Given the description of an element on the screen output the (x, y) to click on. 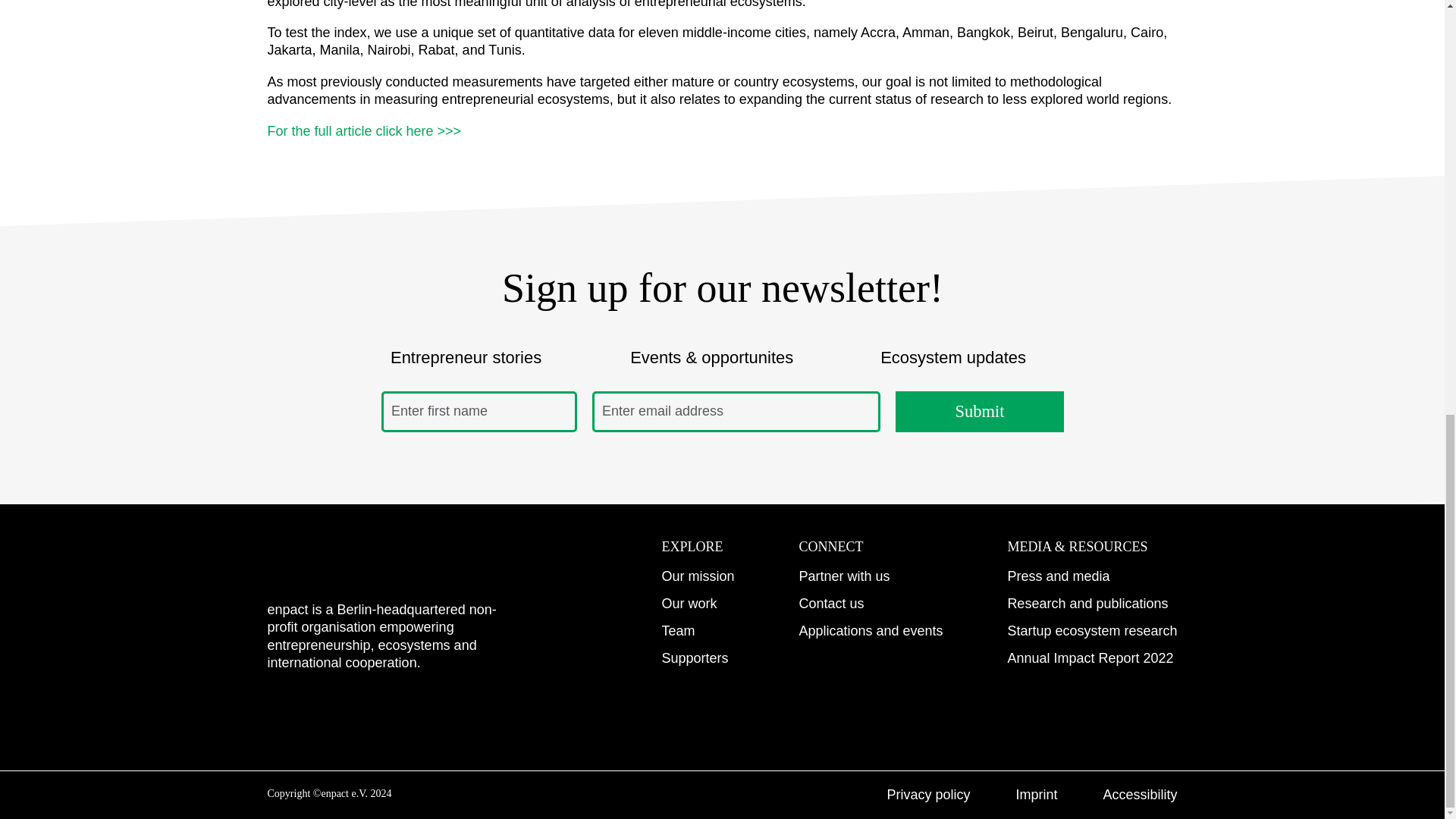
Supporters (694, 657)
Instagram (278, 711)
Team (677, 630)
Twitter (464, 711)
Our work (688, 603)
Facebook (402, 711)
LinkedIn (341, 711)
Our mission (697, 575)
Submit (978, 411)
